Given the description of an element on the screen output the (x, y) to click on. 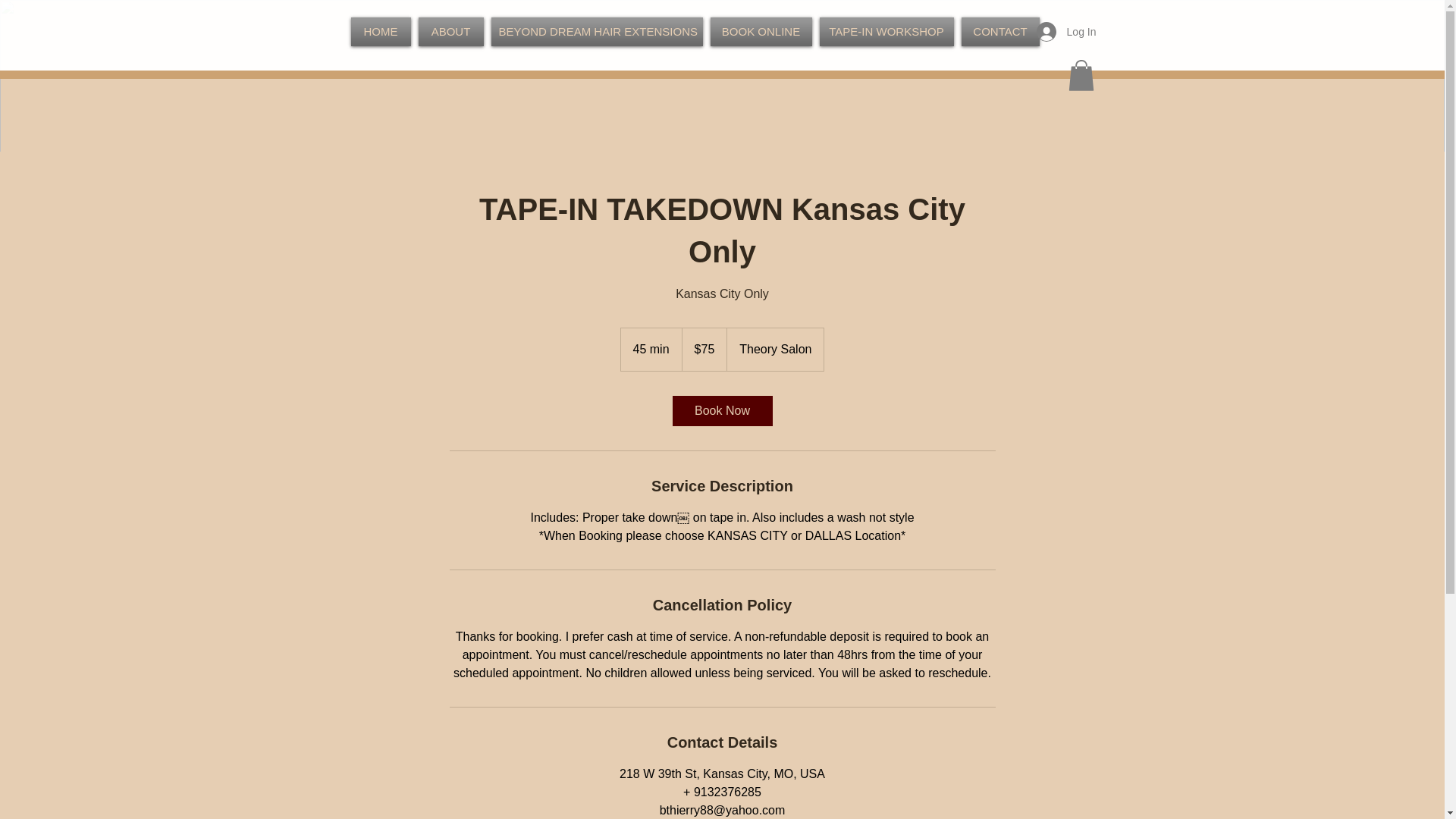
CONTACT (997, 31)
TAPE-IN WORKSHOP (886, 31)
ABOUT (449, 31)
HOME (381, 31)
BOOK ONLINE (760, 31)
Log In (1066, 31)
BEYOND DREAM HAIR EXTENSIONS (596, 31)
Book Now (721, 410)
